Given the description of an element on the screen output the (x, y) to click on. 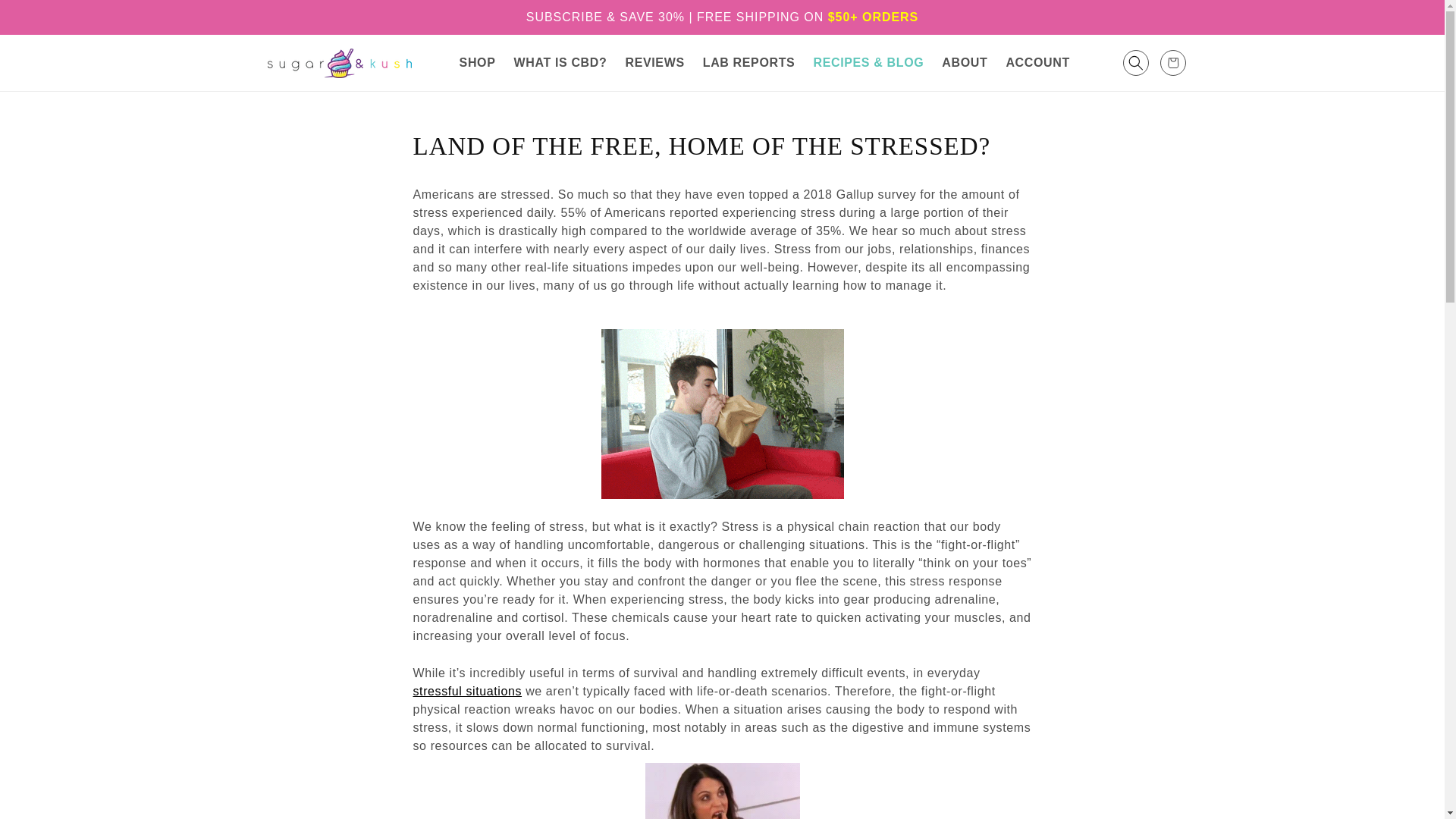
WHAT IS CBD? (560, 63)
Some people have found CBD for stress to be very effective. (466, 690)
Skip to content (45, 17)
ABOUT (964, 63)
REVIEWS (654, 63)
SHOP (477, 63)
LAB REPORTS (749, 63)
